Given the description of an element on the screen output the (x, y) to click on. 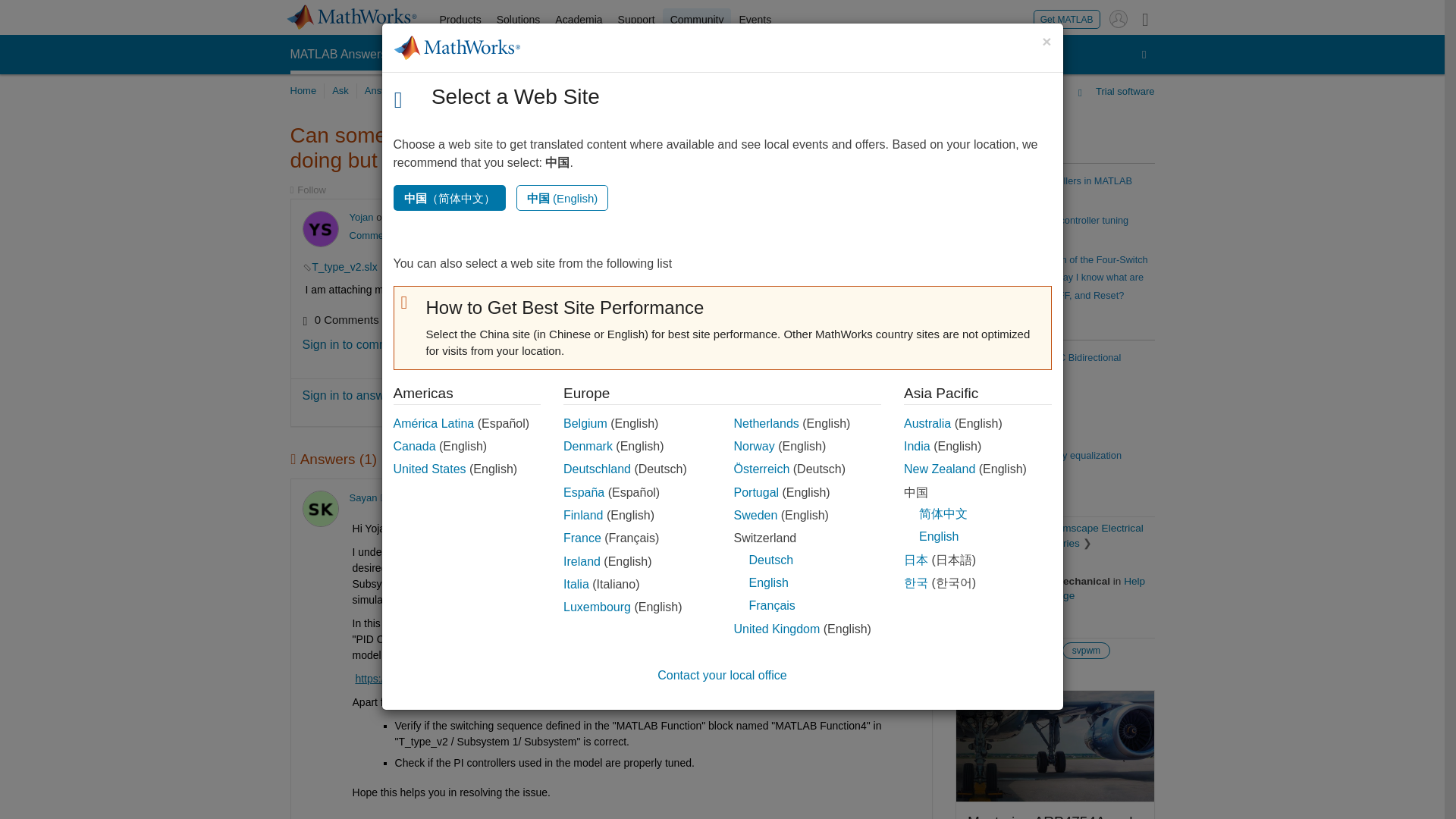
Direct link to this question (906, 216)
Support (636, 19)
Sign in to follow activity (306, 189)
Academia (578, 19)
Sign in to vote for questions and answers (855, 217)
Sign In to Your MathWorks Account (1117, 18)
Products (460, 19)
Direct link to this answer (906, 497)
Sign in to vote for questions and answers (855, 497)
Solutions (518, 19)
Events (754, 19)
Community (697, 19)
Get MATLAB (1066, 18)
